Given the description of an element on the screen output the (x, y) to click on. 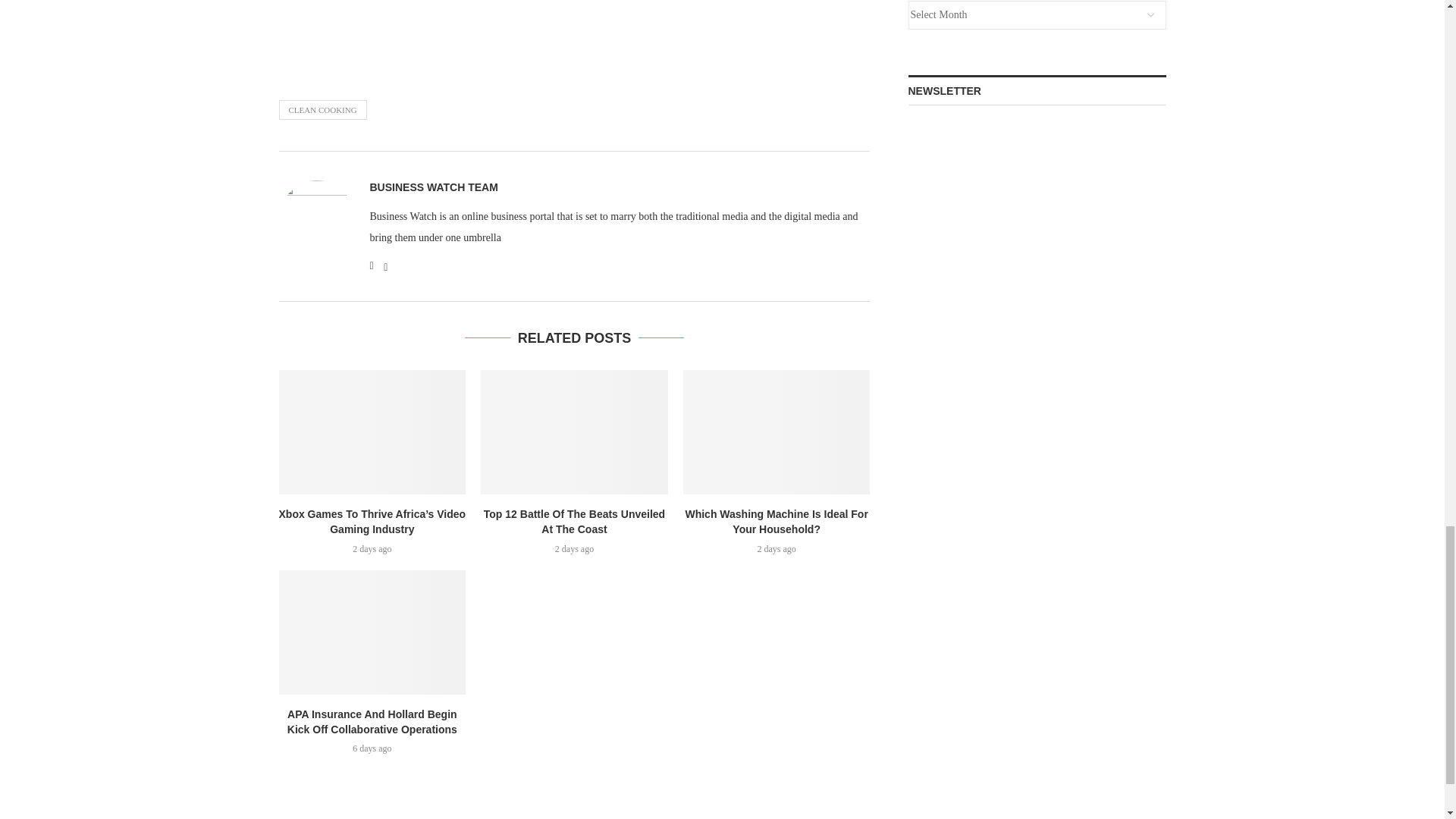
Which Washing Machine Is Ideal For Your Household? (776, 432)
Author Business Watch Team (433, 187)
Top 12 Battle Of The Beats Unveiled At The Coast (574, 432)
